Given the description of an element on the screen output the (x, y) to click on. 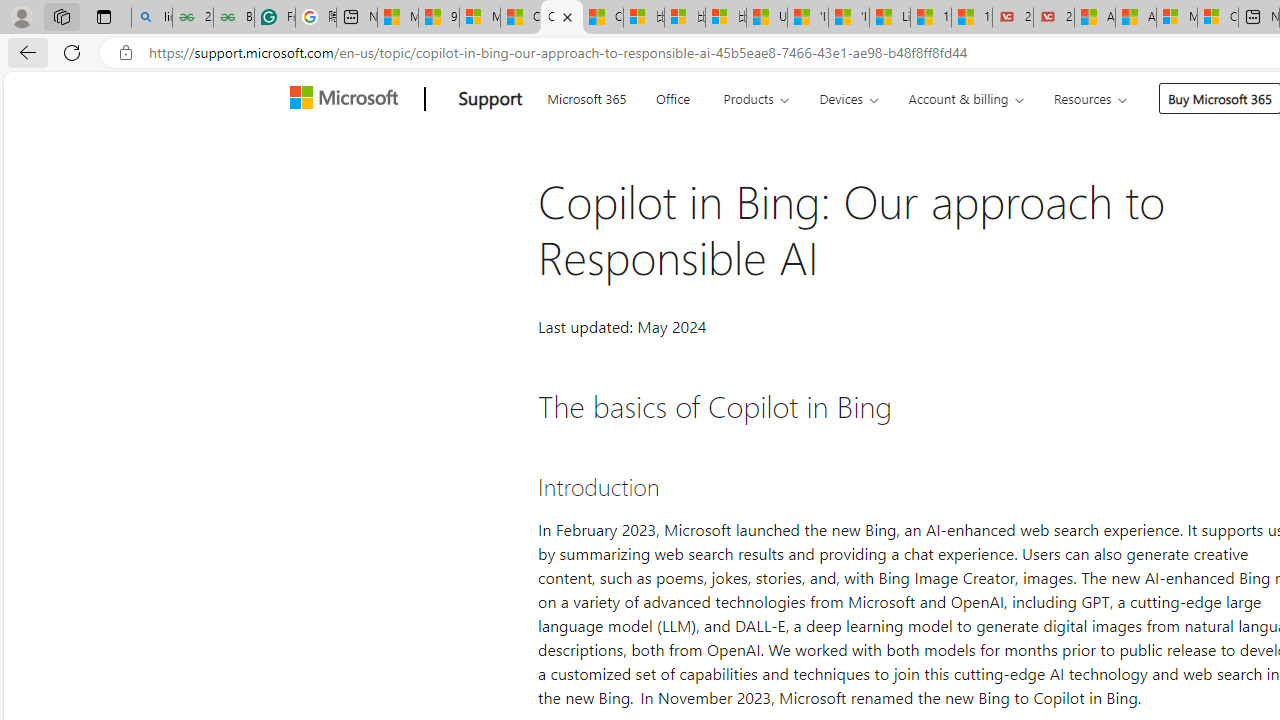
Cloud Computing Services | Microsoft Azure (1217, 17)
15 Ways Modern Life Contradicts the Teachings of Jesus (971, 17)
Free AI Writing Assistance for Students | Grammarly (274, 17)
Office (672, 96)
linux basic - Search (151, 17)
Support (490, 99)
25 Basic Linux Commands For Beginners - GeeksforGeeks (192, 17)
